Given the description of an element on the screen output the (x, y) to click on. 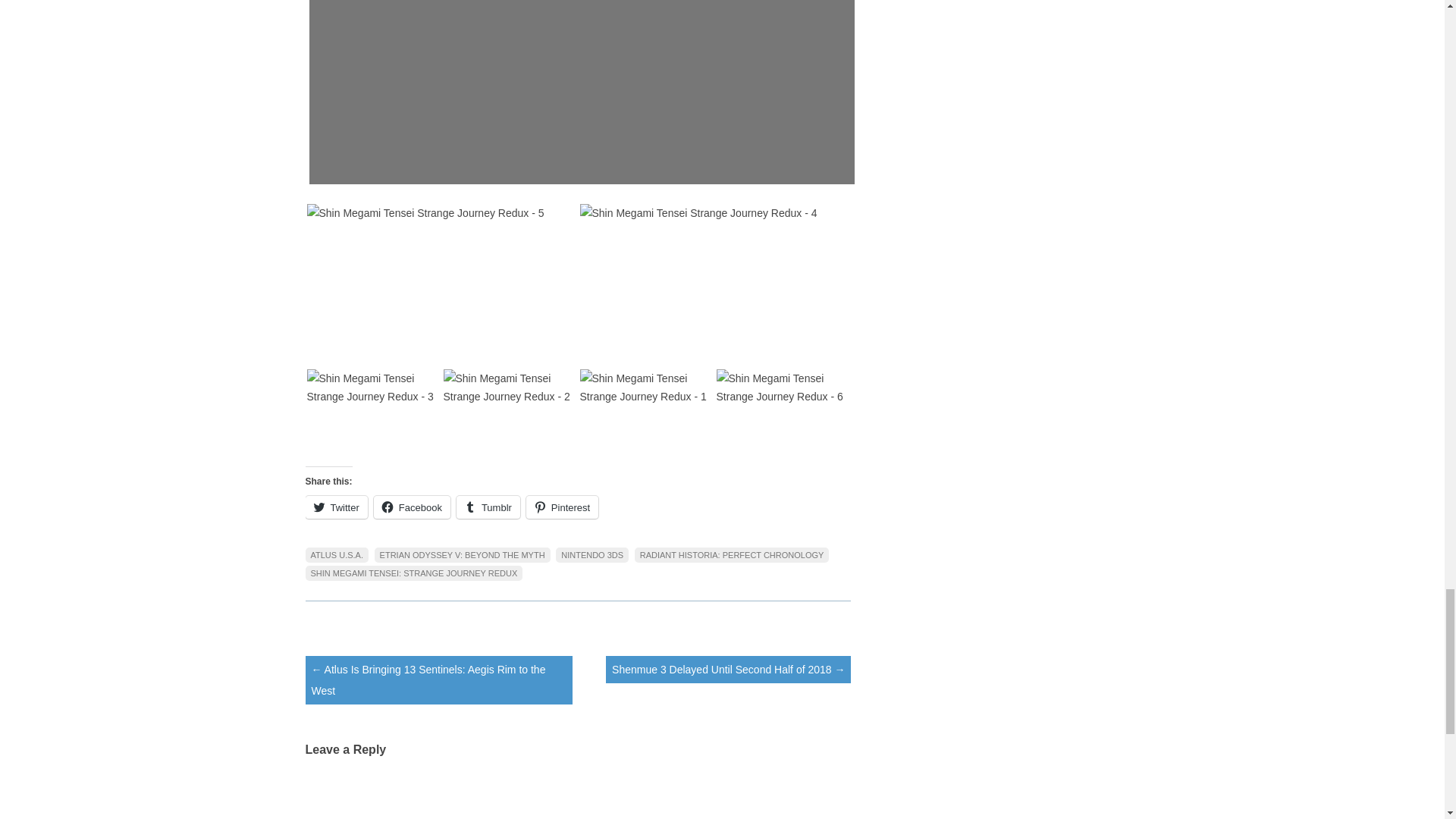
Twitter (335, 507)
Pinterest (561, 507)
RADIANT HISTORIA: PERFECT CHRONOLOGY (731, 554)
ATLUS U.S.A. (336, 554)
Facebook (411, 507)
Tumblr (488, 507)
ETRIAN ODYSSEY V: BEYOND THE MYTH (462, 554)
NINTENDO 3DS (592, 554)
